Given the description of an element on the screen output the (x, y) to click on. 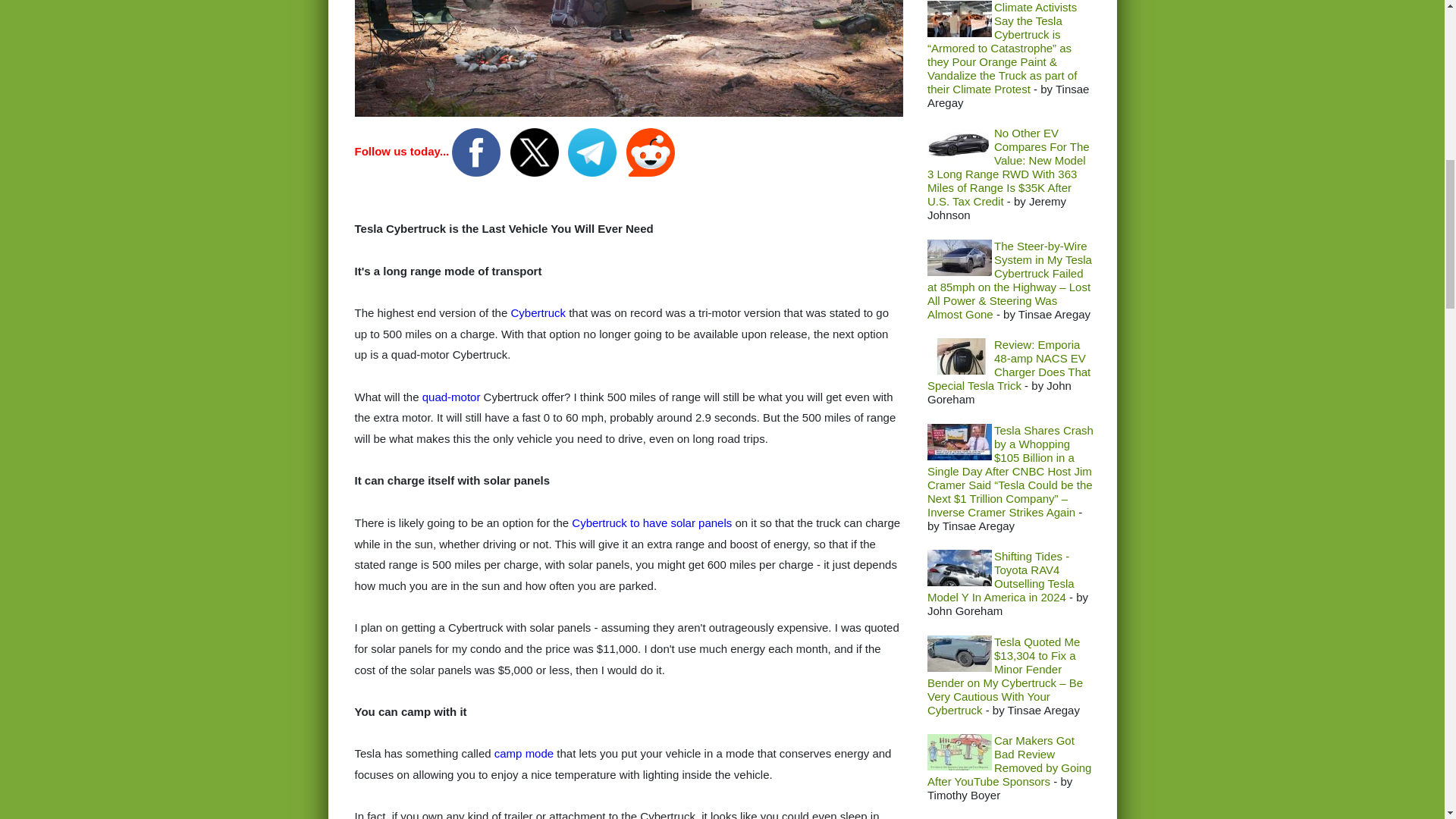
Join us on Reddit! (650, 151)
Cybertruck (538, 312)
Join us on Telegram! (593, 151)
Cybertruck to have solar panels (652, 522)
camp mode (524, 753)
quad-motor (451, 396)
Why the Cybertruck Will Be the Last Vehicle You'll Ever Need (629, 58)
